Given the description of an element on the screen output the (x, y) to click on. 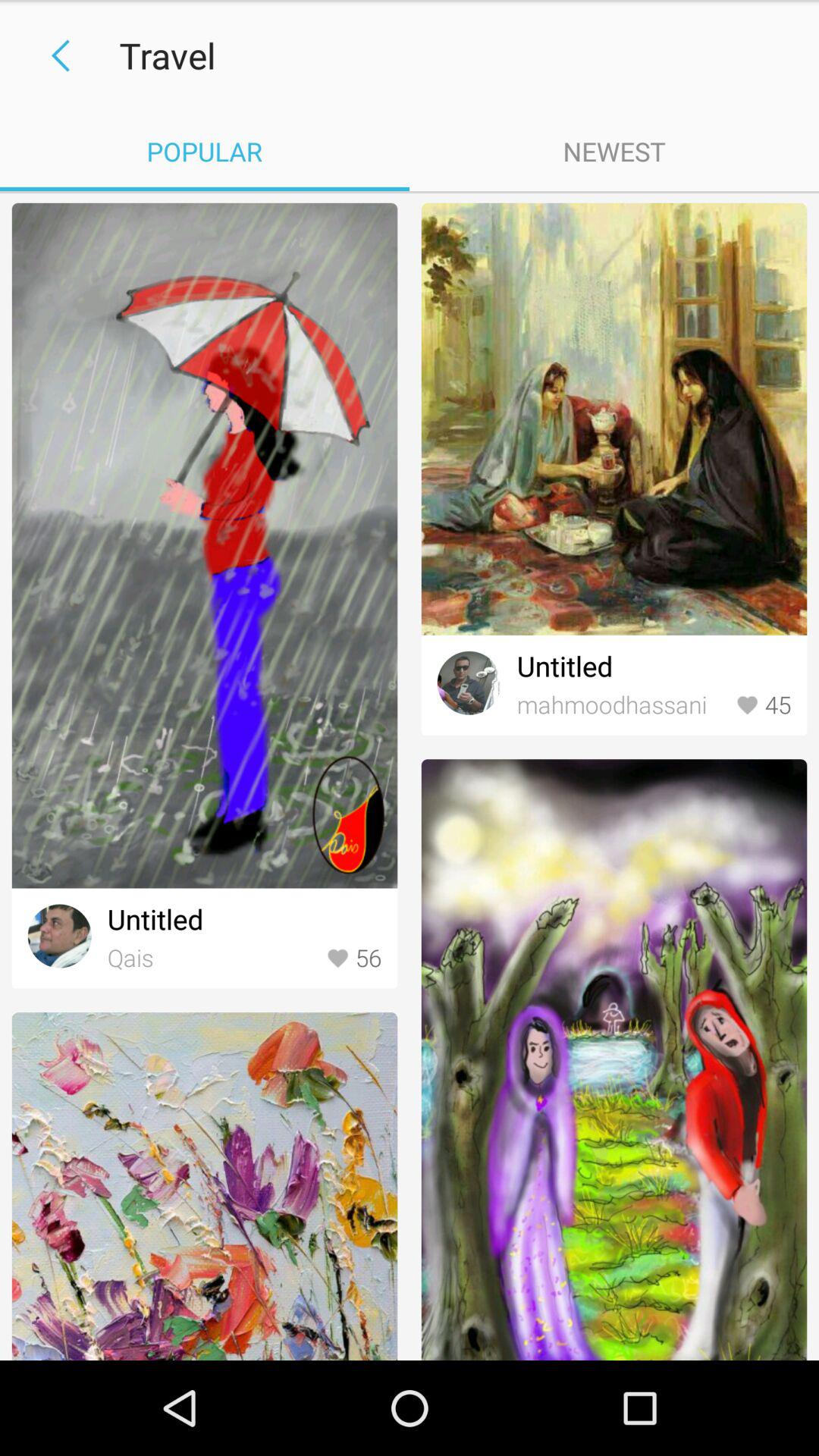
click the icon to the left of 56 (213, 958)
